Given the description of an element on the screen output the (x, y) to click on. 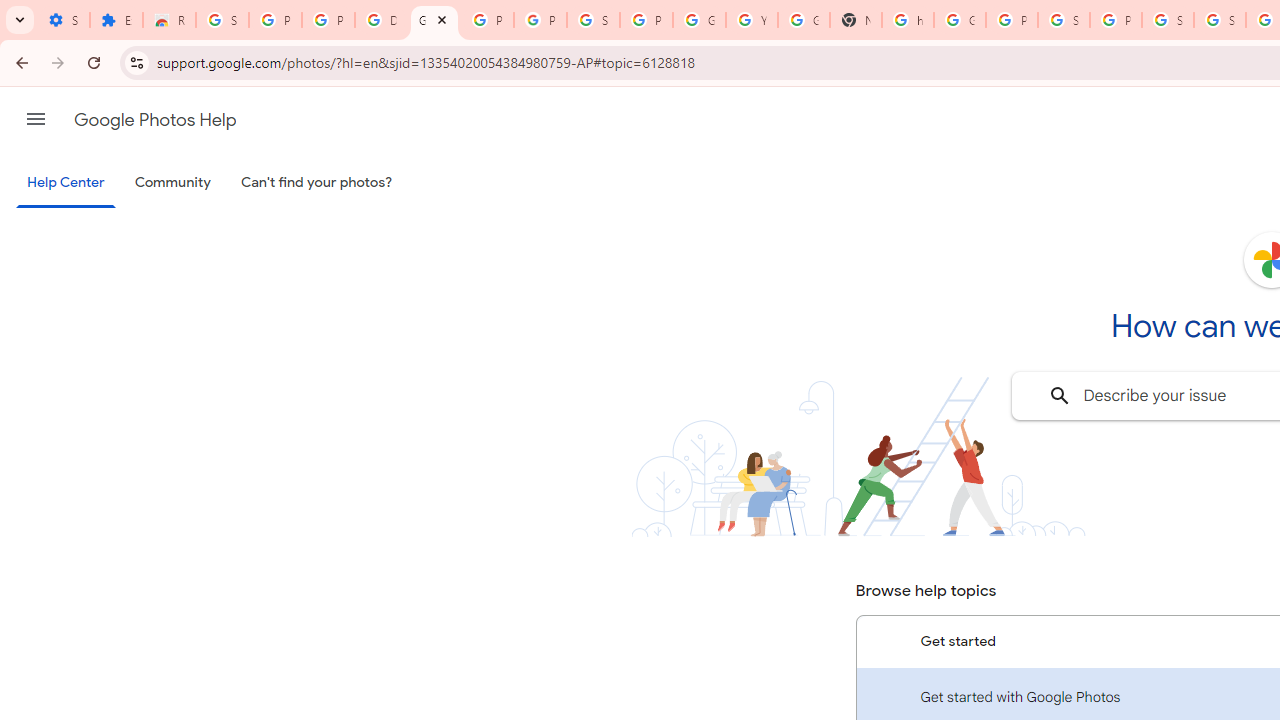
New Tab (855, 20)
Sign in - Google Accounts (222, 20)
Community (171, 183)
Google Account (699, 20)
Delete photos & videos - Computer - Google Photos Help (381, 20)
